Given the description of an element on the screen output the (x, y) to click on. 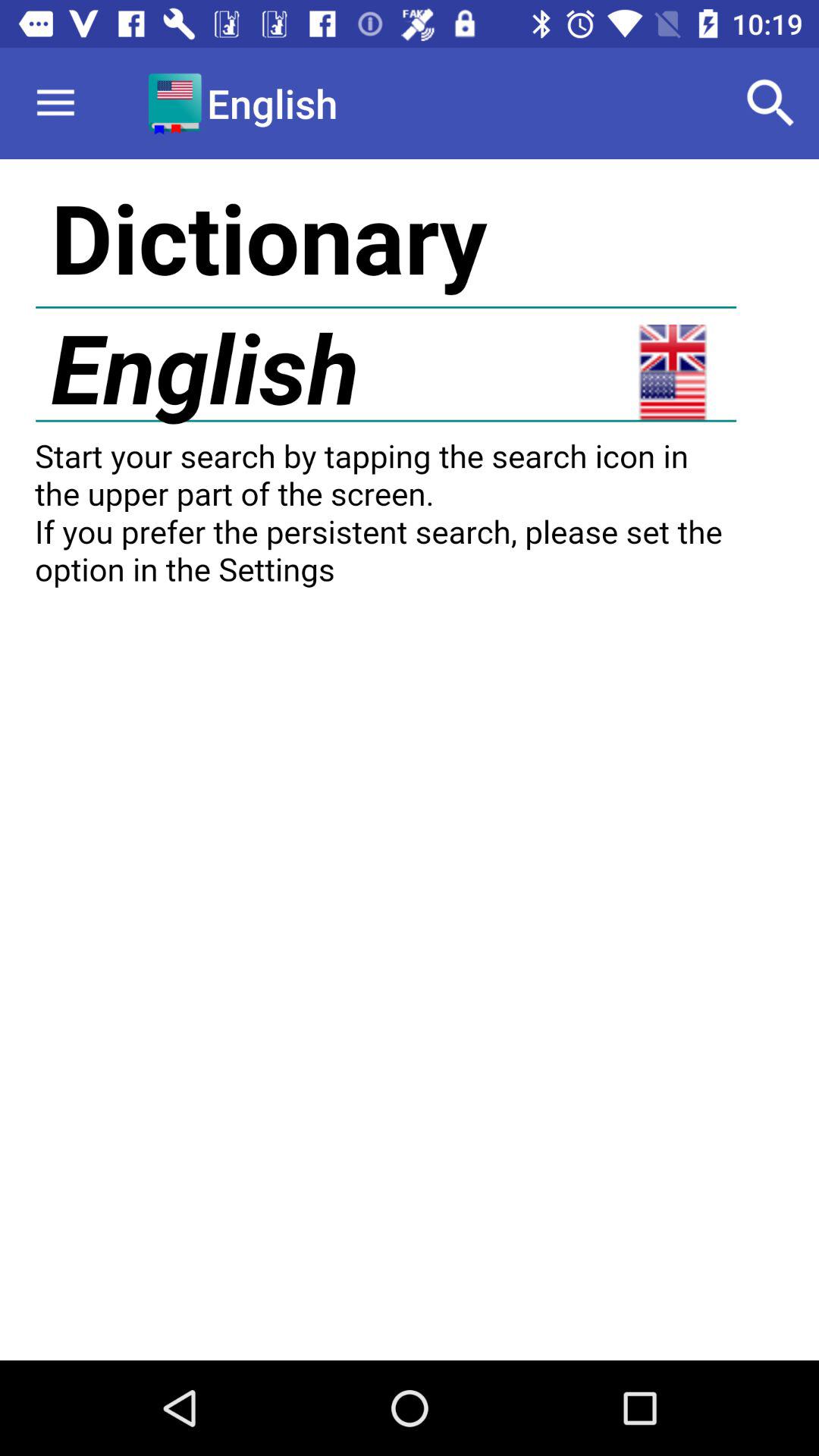
instruction icon (409, 759)
